Given the description of an element on the screen output the (x, y) to click on. 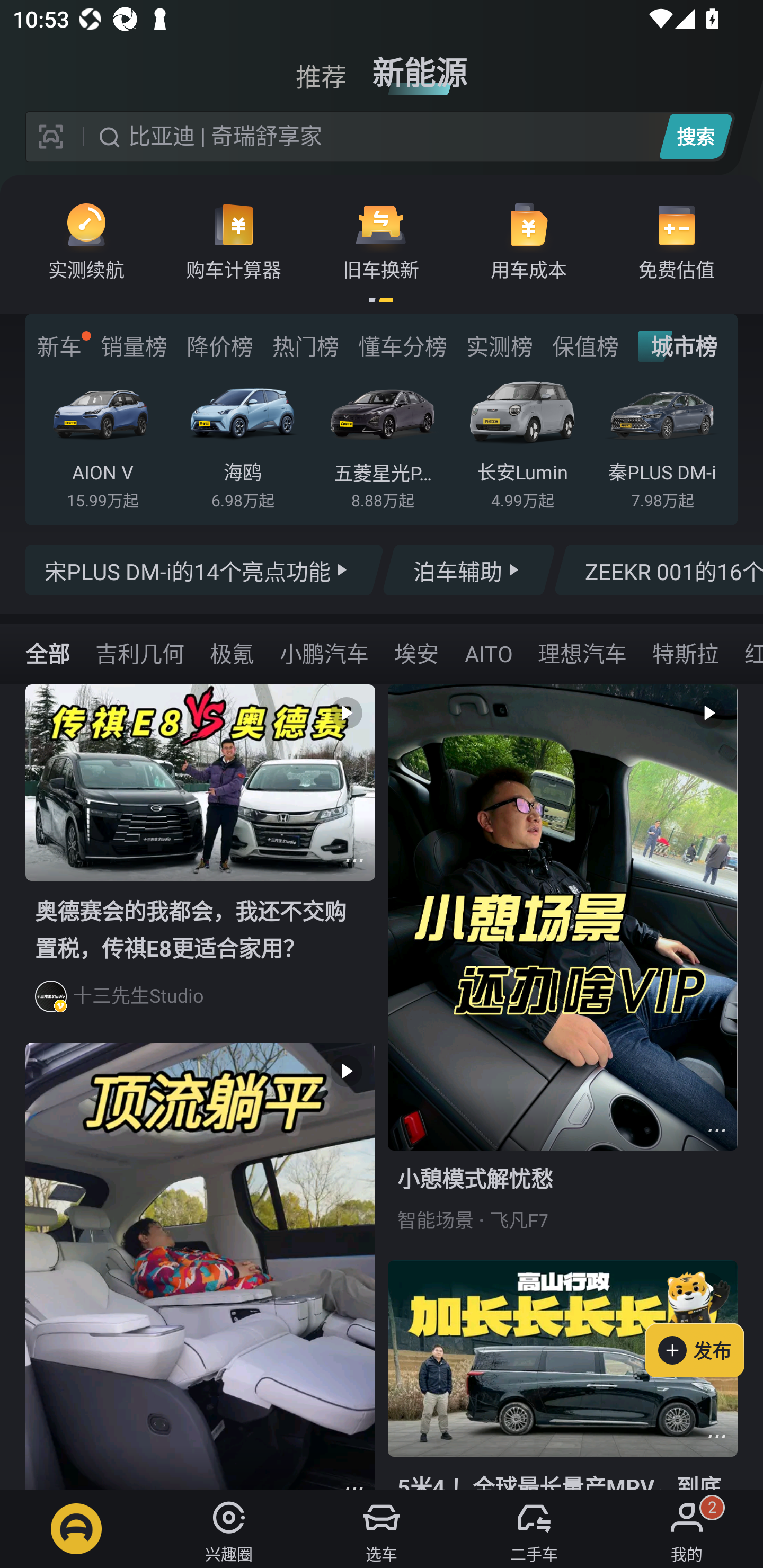
推荐 (321, 65)
新能源 (419, 65)
搜索 (695, 136)
实测续航 (86, 240)
购车计算器 (233, 240)
旧车换新 (380, 240)
用车成本 (528, 240)
免费估值 (676, 240)
新车 (59, 346)
销量榜 (133, 346)
降价榜 (219, 346)
热门榜 (305, 346)
懂车分榜 (402, 346)
实测榜 (499, 346)
保值榜 (585, 346)
城市榜 (677, 346)
AION V 15.99万起 (102, 442)
海鸥 6.98万起 (242, 442)
五菱星光PHEV 8.88万起 (382, 442)
长安Lumin 4.99万起 (522, 442)
秦PLUS DM-i 7.98万起 (662, 442)
宋PLUS DM-i的14个亮点功能 (204, 569)
泊车辅助 (468, 569)
ZEEKR 001的16个亮点功能 (658, 569)
全部 (47, 652)
吉利几何 (139, 652)
极氪 (231, 652)
小鹏汽车 (324, 652)
埃安 (416, 652)
AITO (487, 652)
理想汽车 (581, 652)
特斯拉 (685, 652)
  奥德赛会的我都会，我还不交购置税，传祺E8更适合家用？ 十三先生Studio (200, 862)
  小憩模式解忧愁 智能场景 飞凡F7 (562, 971)
 (354, 860)
  (200, 1265)
 (716, 1130)
飞凡F7 (518, 1220)
  5米4 ！全球最长量产MPV，到底好不好开？ (562, 1374)
发布 (704, 1320)
 (716, 1436)
 兴趣圈 (228, 1528)
 选车 (381, 1528)
 二手车 (533, 1528)
 我的 (686, 1528)
